Given the description of an element on the screen output the (x, y) to click on. 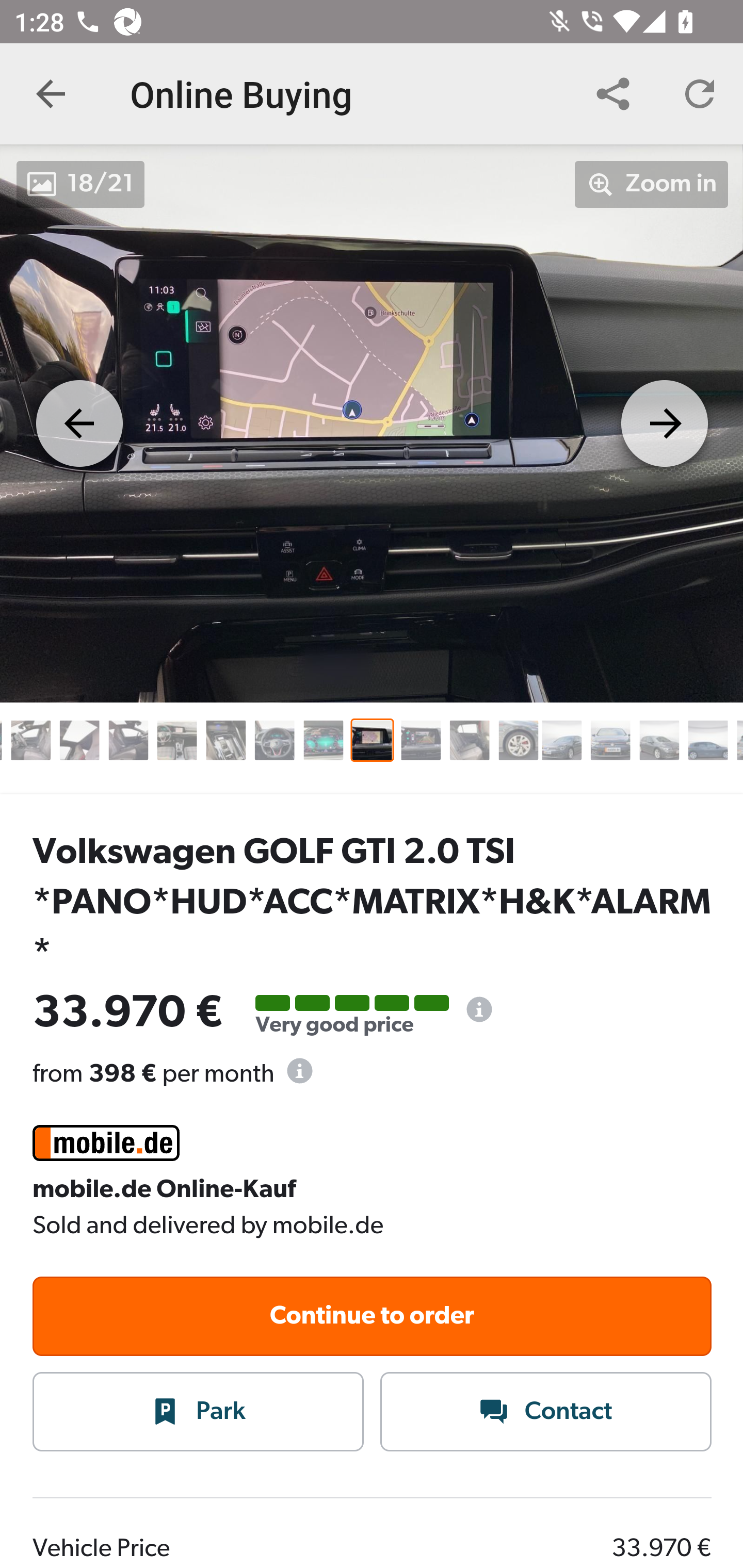
Navigate up (50, 93)
synchronize (612, 93)
synchronize (699, 93)
Zoom in (651, 184)
Park (198, 1412)
Contact (545, 1412)
